Given the description of an element on the screen output the (x, y) to click on. 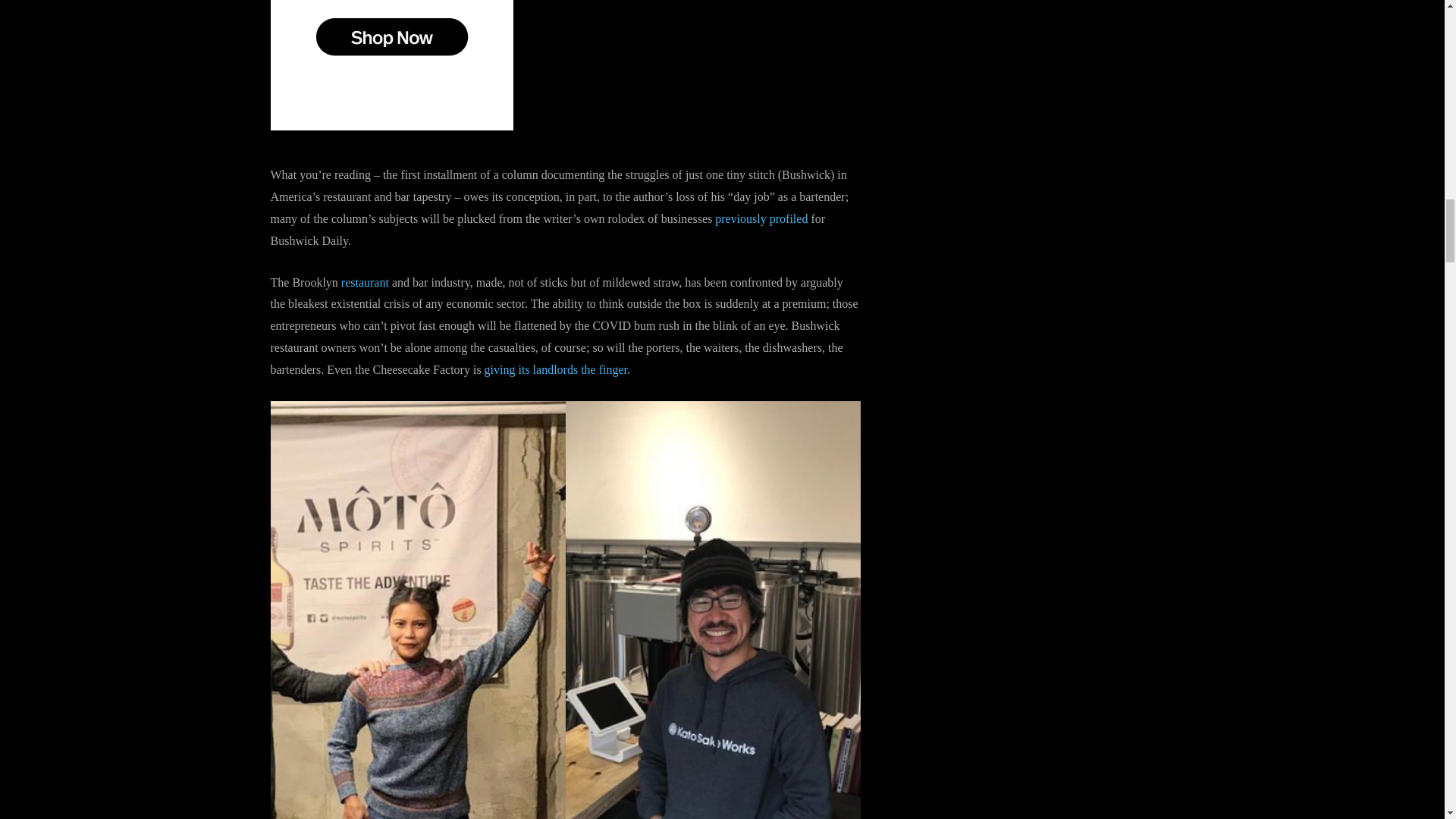
previously profiled (761, 218)
giving its landlords the finger (555, 369)
restaurant (364, 282)
